Given the description of an element on the screen output the (x, y) to click on. 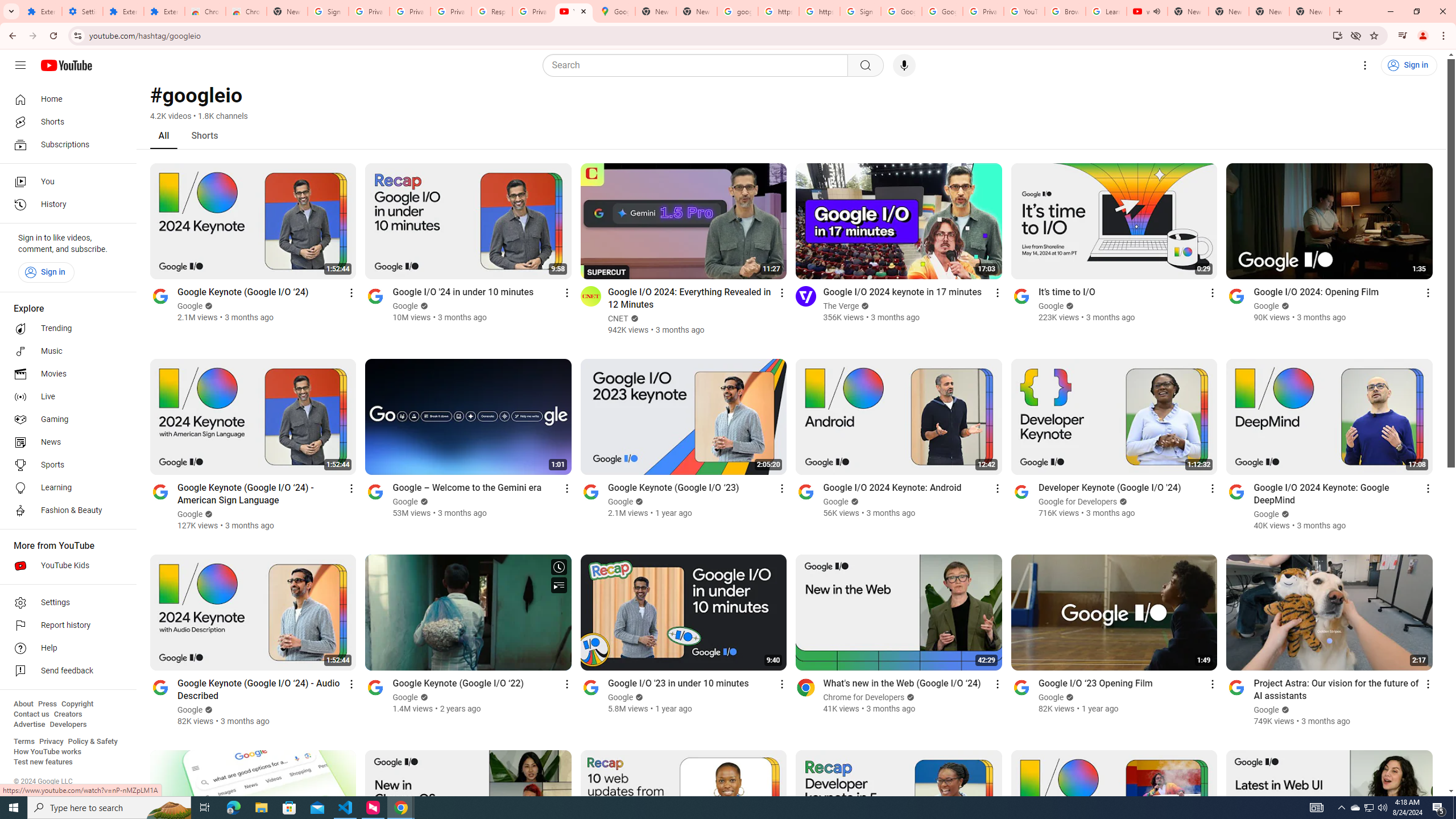
Terms (23, 741)
Gaming (64, 419)
Sports (64, 464)
Developers (68, 724)
Privacy (51, 741)
Contact us (31, 714)
Chrome for Developers (863, 697)
Test new features (42, 761)
The Verge (841, 306)
Extensions (122, 11)
